Given the description of an element on the screen output the (x, y) to click on. 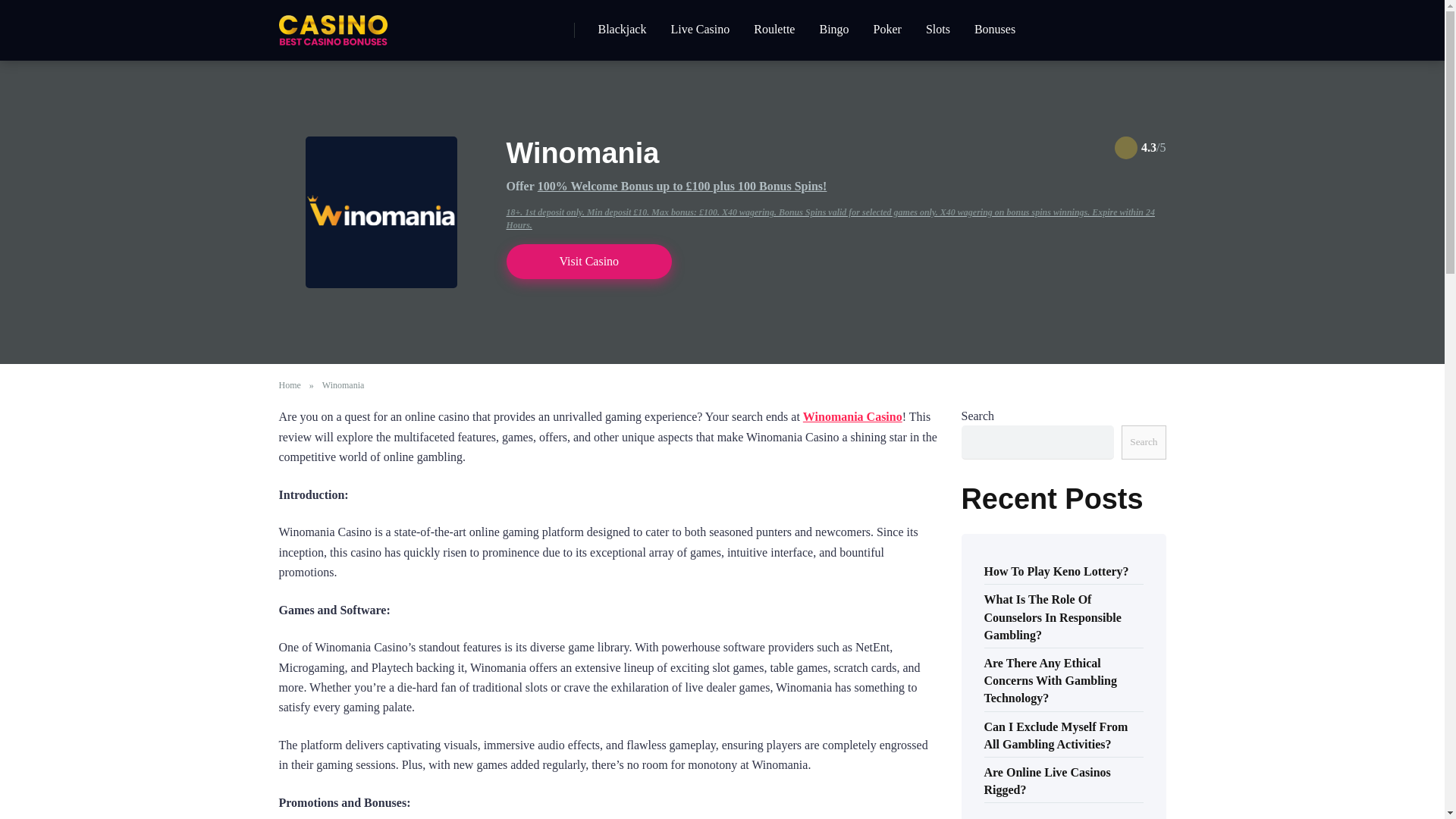
Visit Casino (589, 261)
Live Casino (699, 30)
Visit Casino (589, 261)
Roulette (773, 30)
Are There Any Ethical Concerns With Gambling Technology? (1050, 679)
How To Play Keno Lottery? (1056, 569)
Winomania Casino (852, 416)
Can I Exclude Myself From All Gambling Activities? (1056, 734)
What Is The Role Of Counselors In Responsible Gambling? (1052, 615)
British Casino Guide (333, 24)
